Given the description of an element on the screen output the (x, y) to click on. 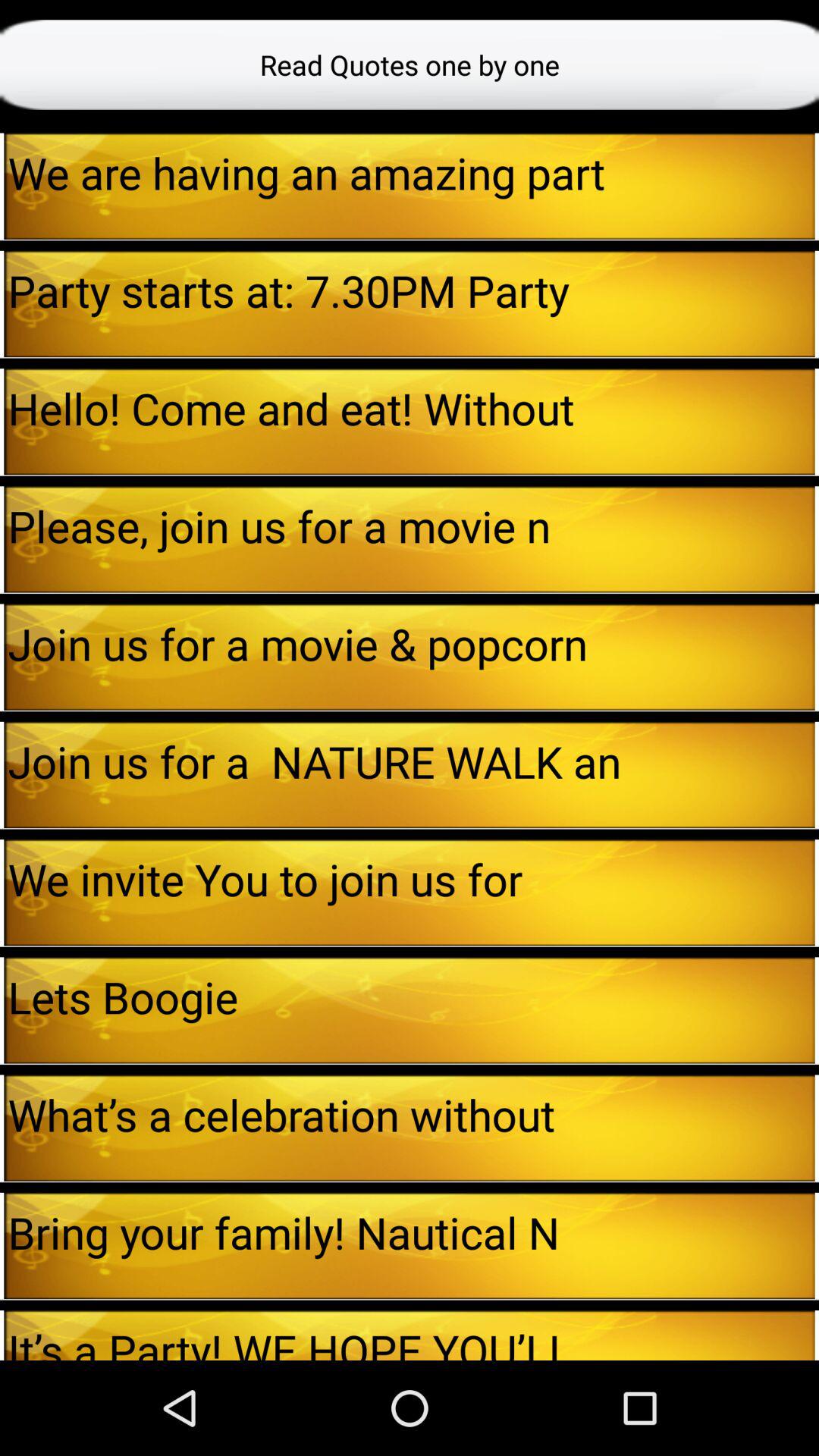
choose app next to the join us for app (1, 774)
